Given the description of an element on the screen output the (x, y) to click on. 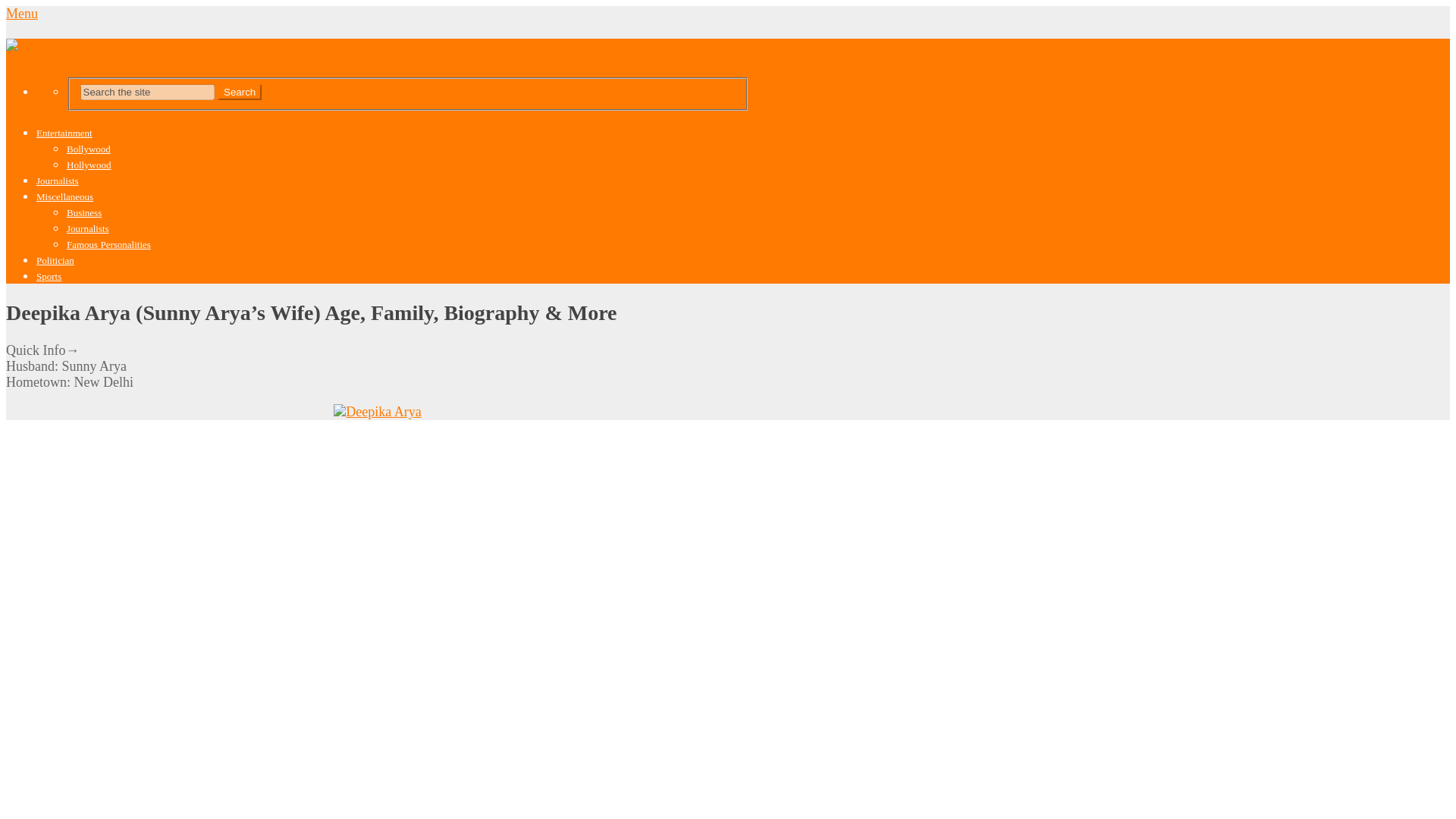
Journalists (87, 228)
Search (239, 91)
Journalists (57, 180)
Bollywood (88, 148)
Sports (48, 276)
Famous Personalities (108, 244)
Business (83, 212)
Hollywood (89, 164)
Search the site (147, 91)
Miscellaneous (64, 196)
Politician (55, 260)
Search (239, 91)
Entertainment (64, 132)
Menu (21, 13)
